Given the description of an element on the screen output the (x, y) to click on. 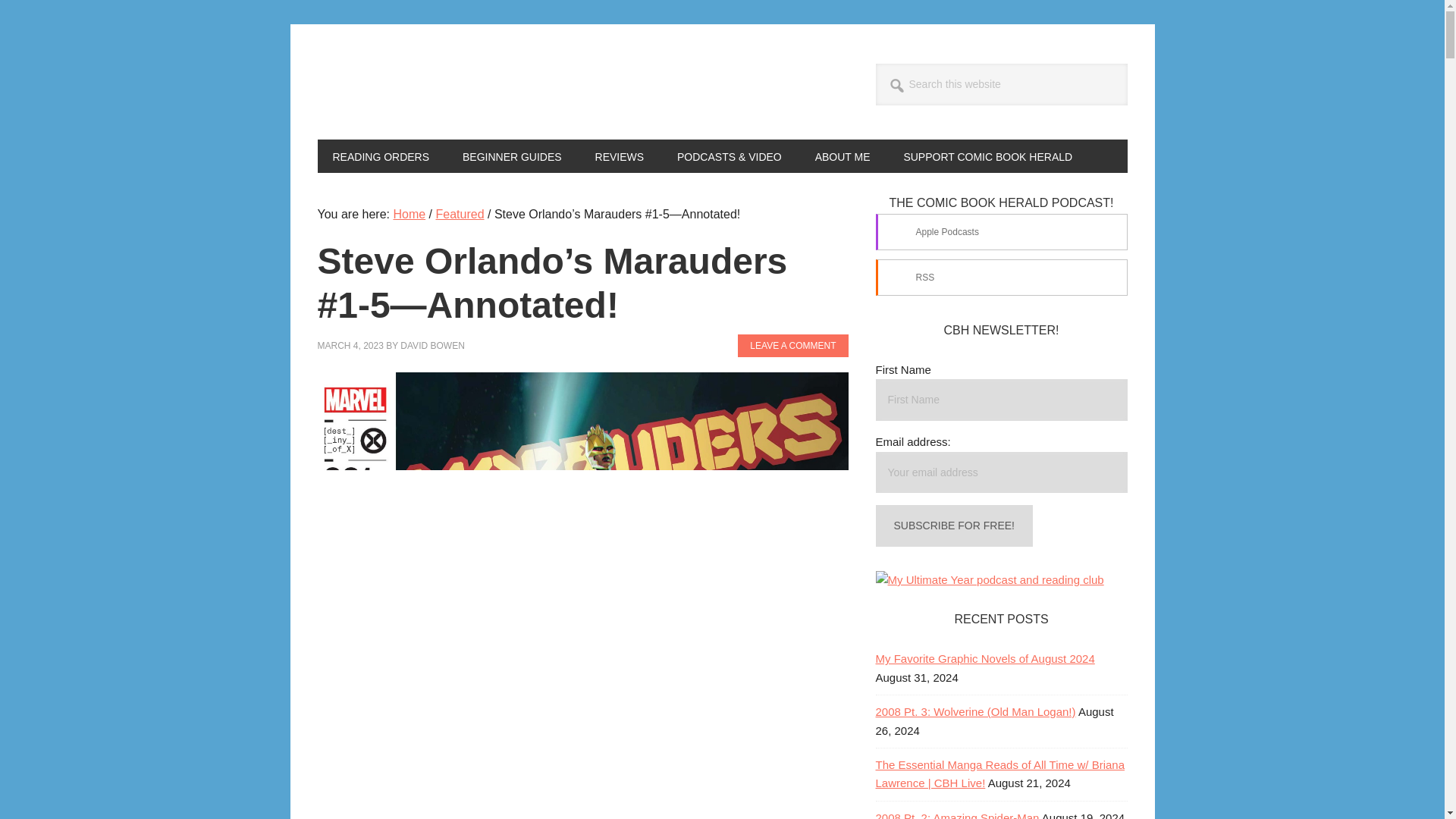
READING ORDERS (380, 155)
Comic Book Herald reading orders! (380, 155)
REVIEWS (619, 155)
DAVID BOWEN (432, 345)
SUPPORT COMIC BOOK HERALD (987, 155)
COMIC BOOK HERALD (453, 81)
Subscribe For Free! (953, 526)
BEGINNER GUIDES (511, 155)
Featured (459, 214)
